Given the description of an element on the screen output the (x, y) to click on. 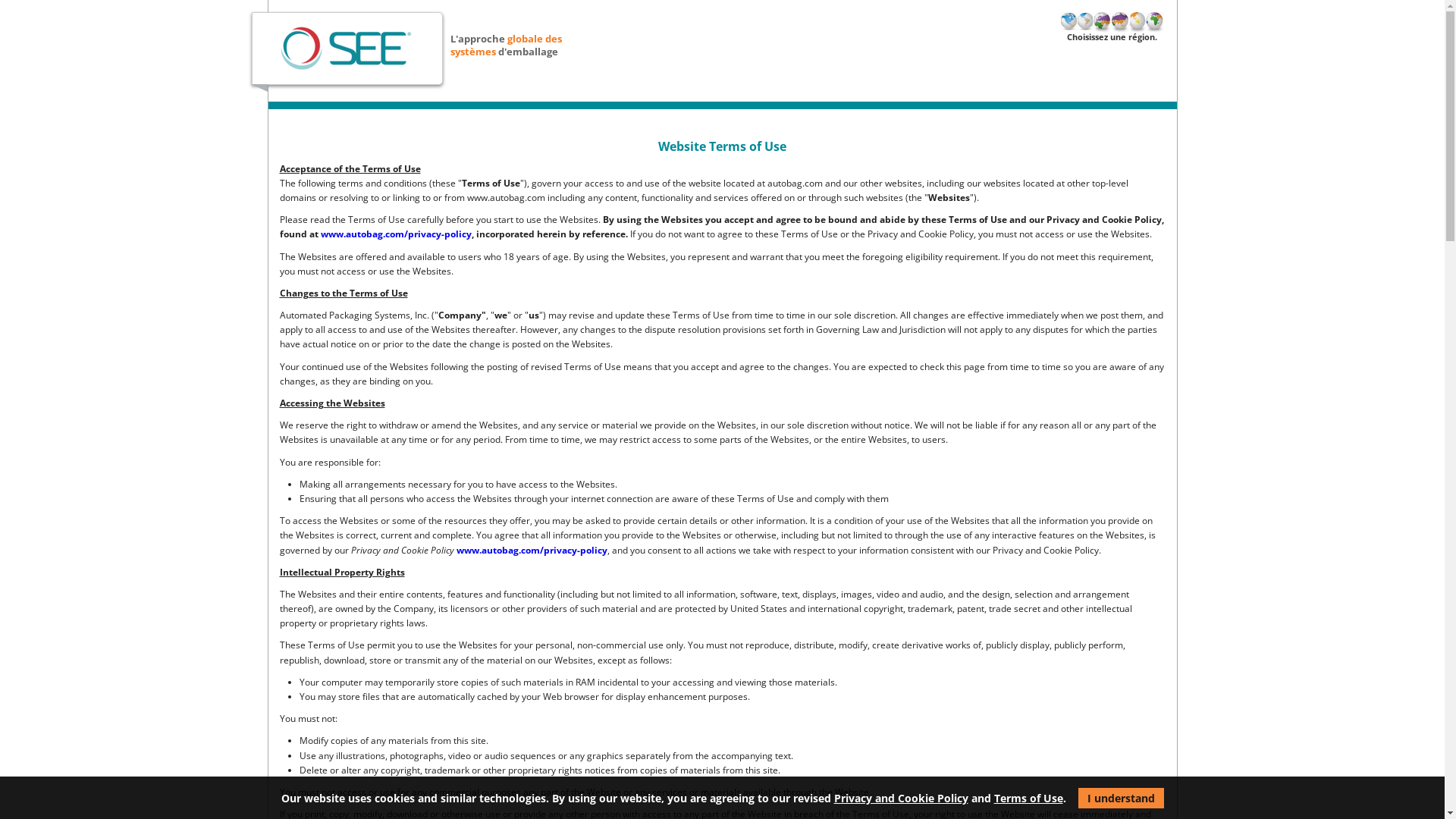
www.autobag.com/privacy-policy Element type: text (395, 233)
Privacy and Cookie Policy Element type: text (901, 797)
www.autobag.com/privacy-policy Element type: text (531, 549)
Terms of Use Element type: text (1027, 797)
I understand Element type: text (1121, 797)
